Given the description of an element on the screen output the (x, y) to click on. 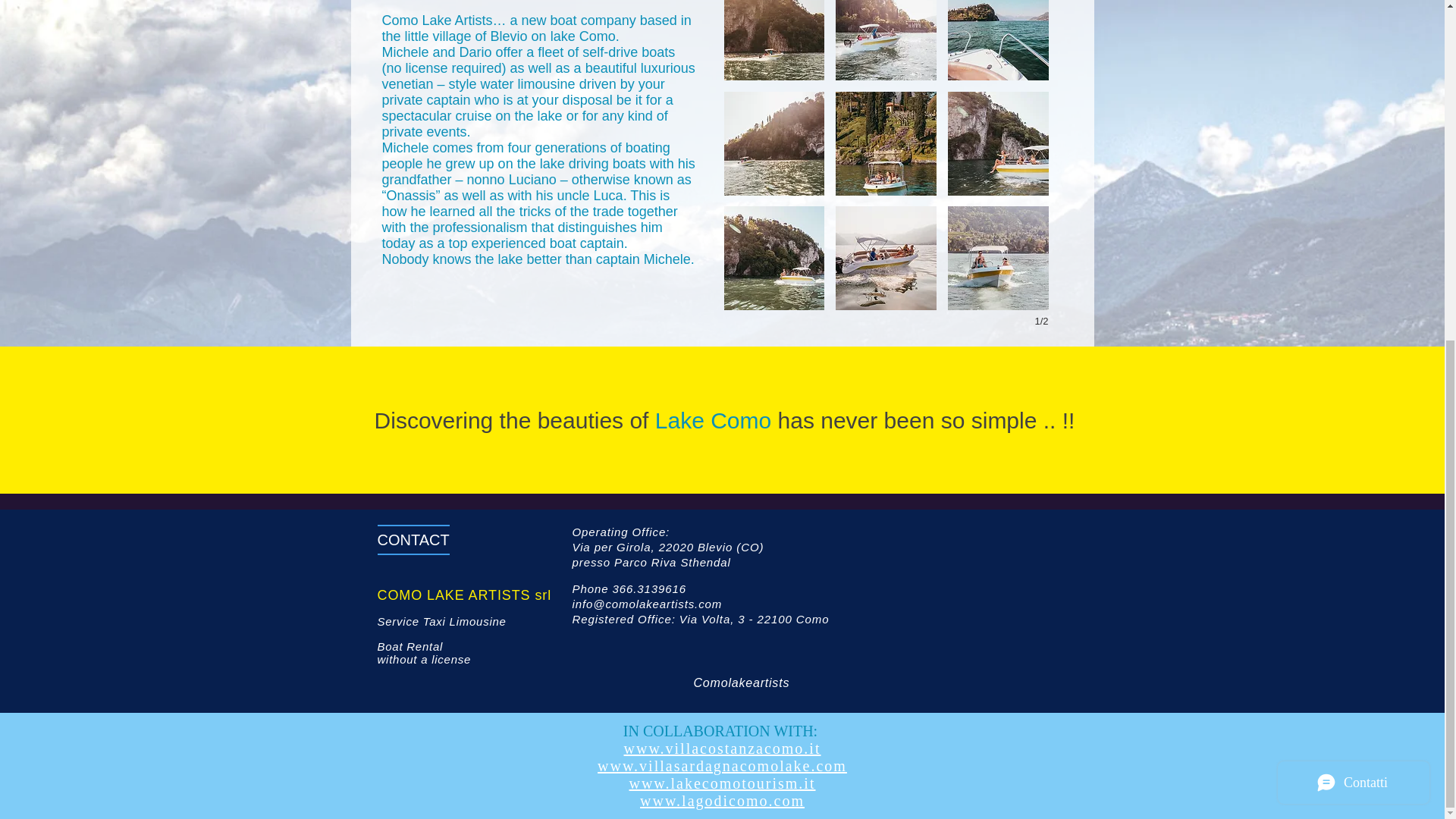
www.lakecomotourism.it (721, 782)
www.villacostanzacomo.it (722, 748)
www.lagodicomo.com (722, 800)
www.villasardagnacomolake.com (721, 765)
Google Maps (953, 593)
